Given the description of an element on the screen output the (x, y) to click on. 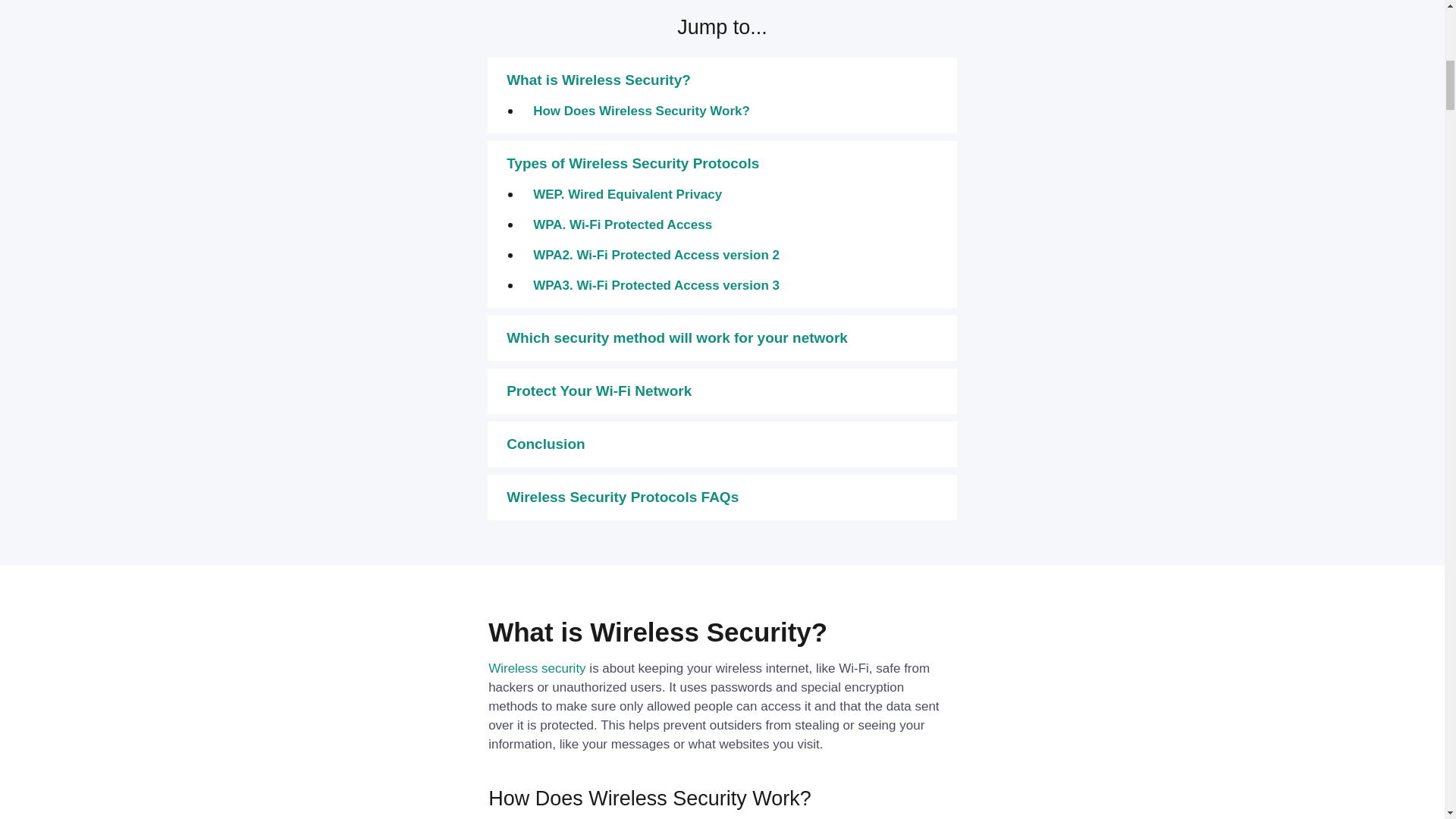
Wireless security (536, 667)
WPA. Wi-Fi Protected Access (621, 224)
What is Wireless Security? (598, 79)
Which security method will work for your network (676, 337)
Types of Wireless Security Protocols (632, 163)
WPA3. Wi-Fi Protected Access version 3 (655, 285)
Conclusion (545, 443)
Protect Your Wi-Fi Network (598, 390)
Wireless Security Protocols FAQs (622, 496)
WEP. Wired Equivalent Privacy (627, 194)
